Given the description of an element on the screen output the (x, y) to click on. 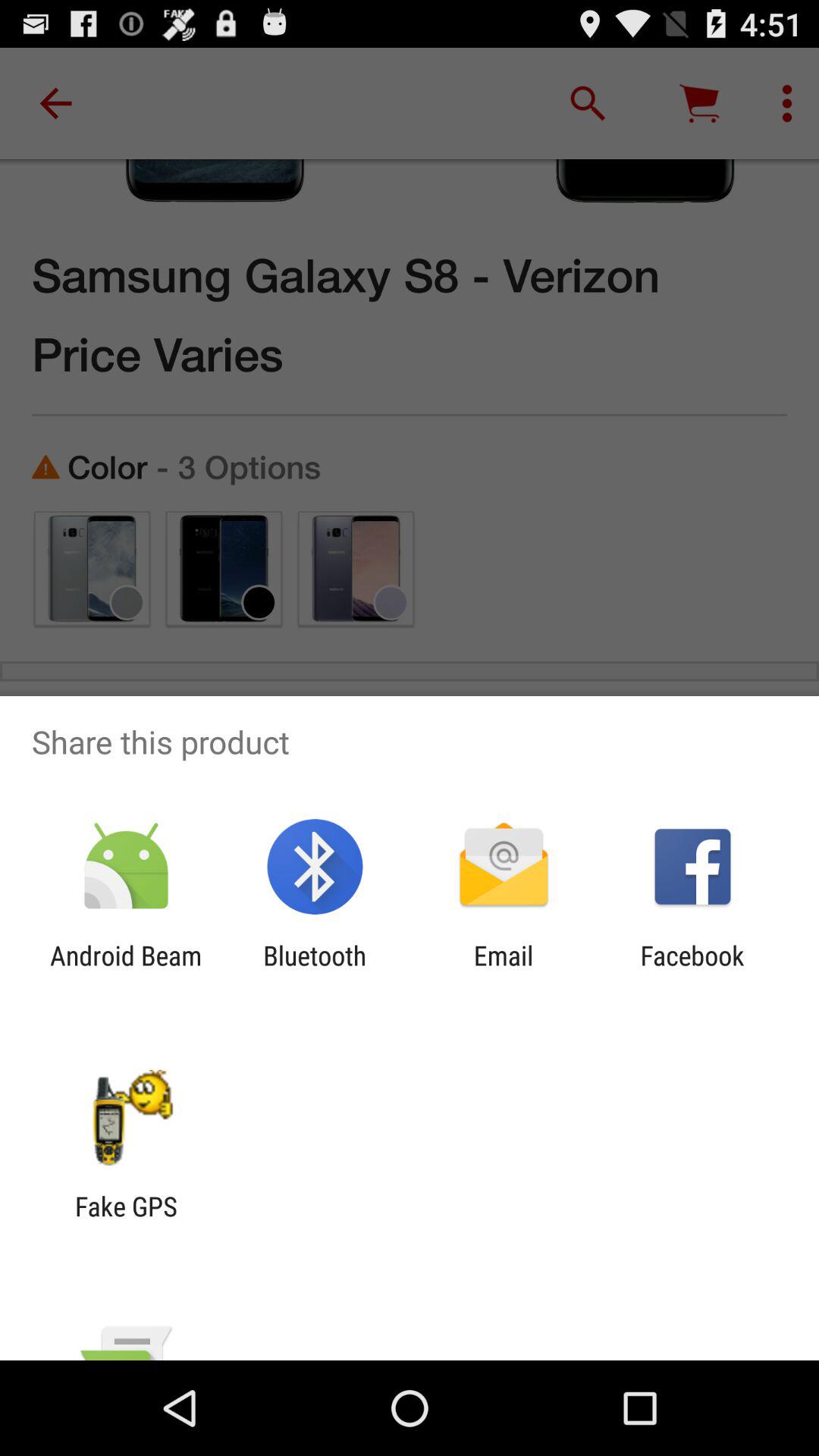
choose app next to bluetooth icon (125, 971)
